Given the description of an element on the screen output the (x, y) to click on. 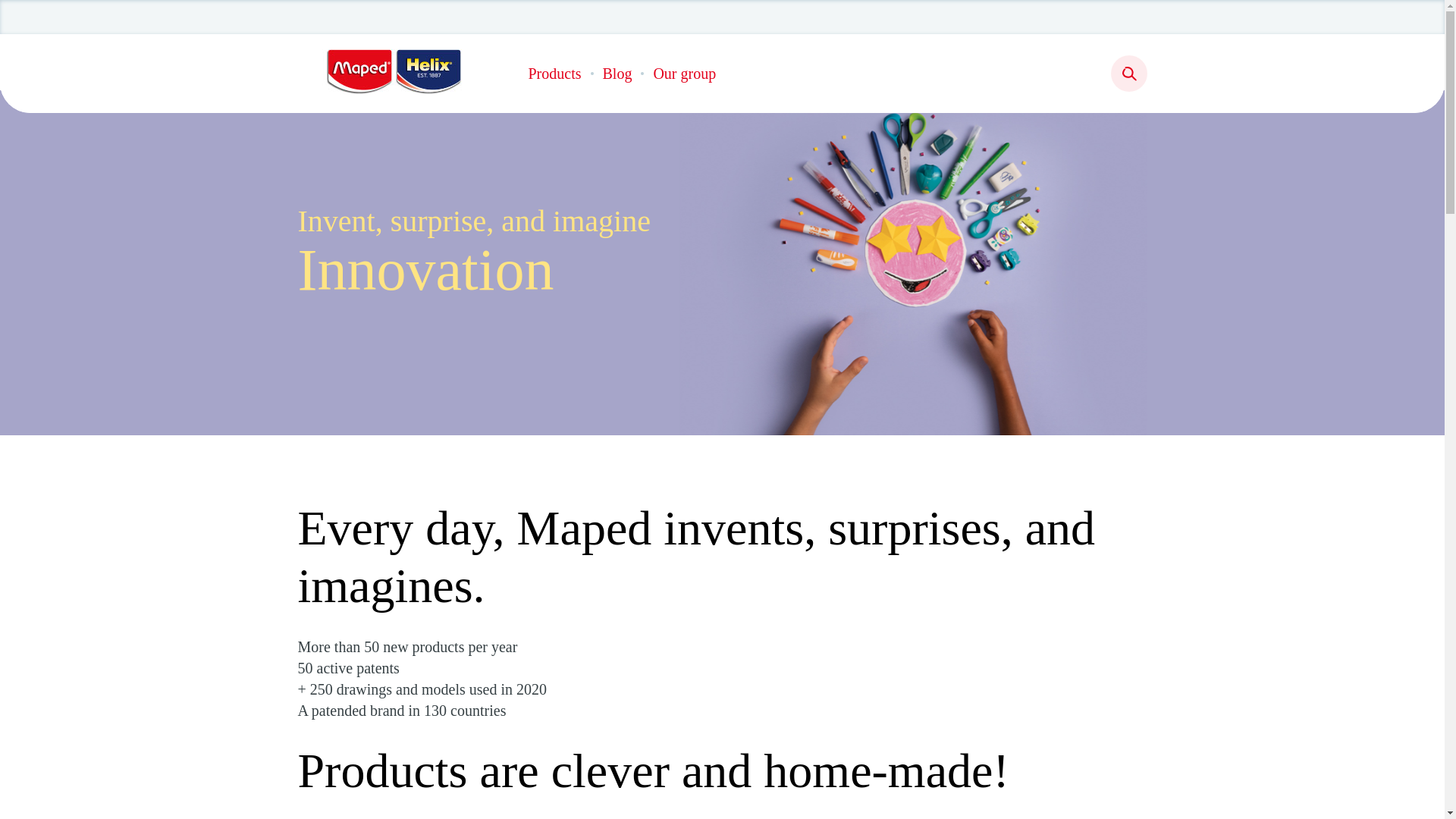
Products (553, 73)
